Given the description of an element on the screen output the (x, y) to click on. 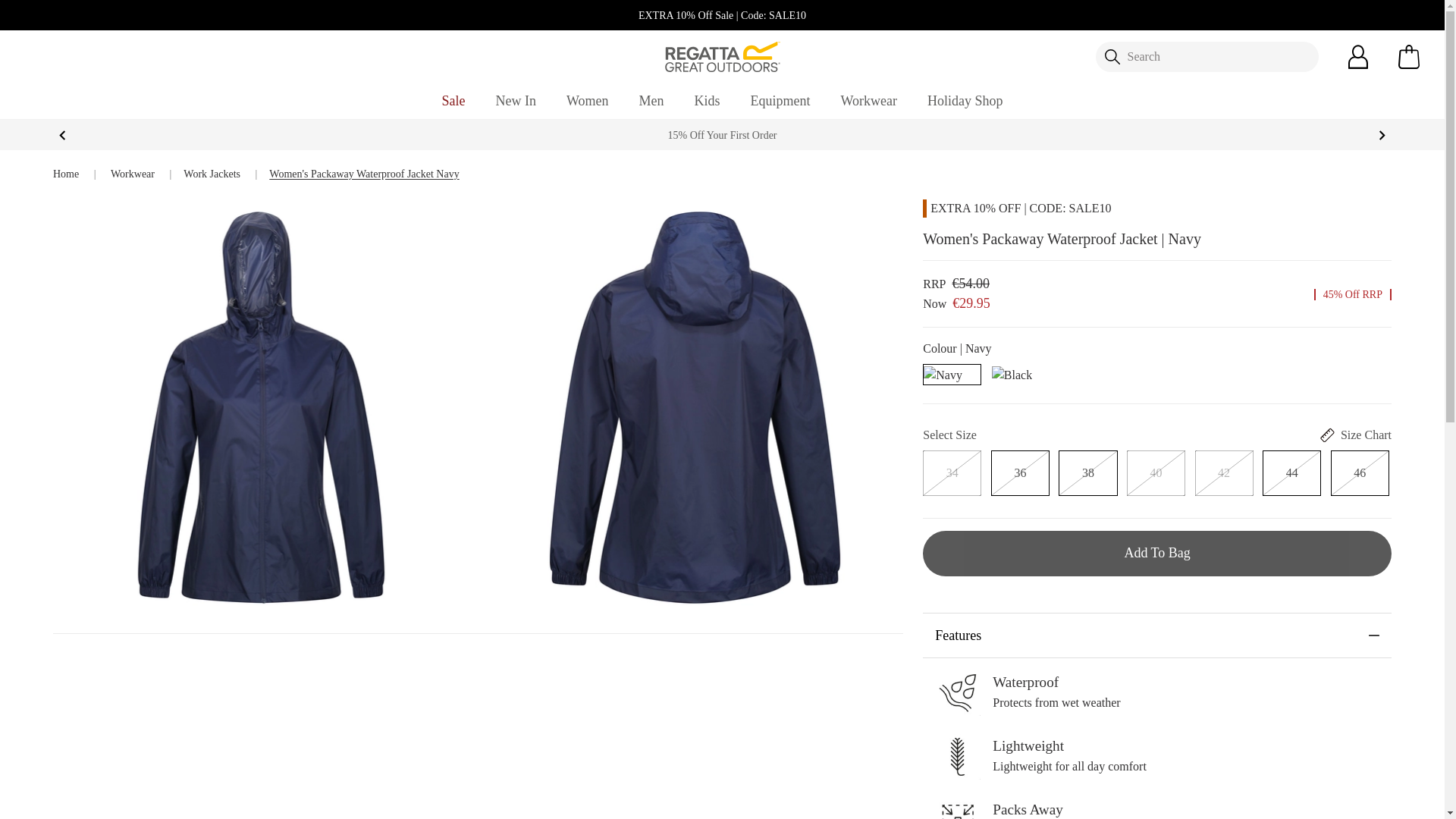
Women (587, 100)
Navy (942, 373)
New In (515, 100)
Black (1011, 373)
Search (1205, 56)
Sale (452, 100)
Home Page (721, 55)
